Given the description of an element on the screen output the (x, y) to click on. 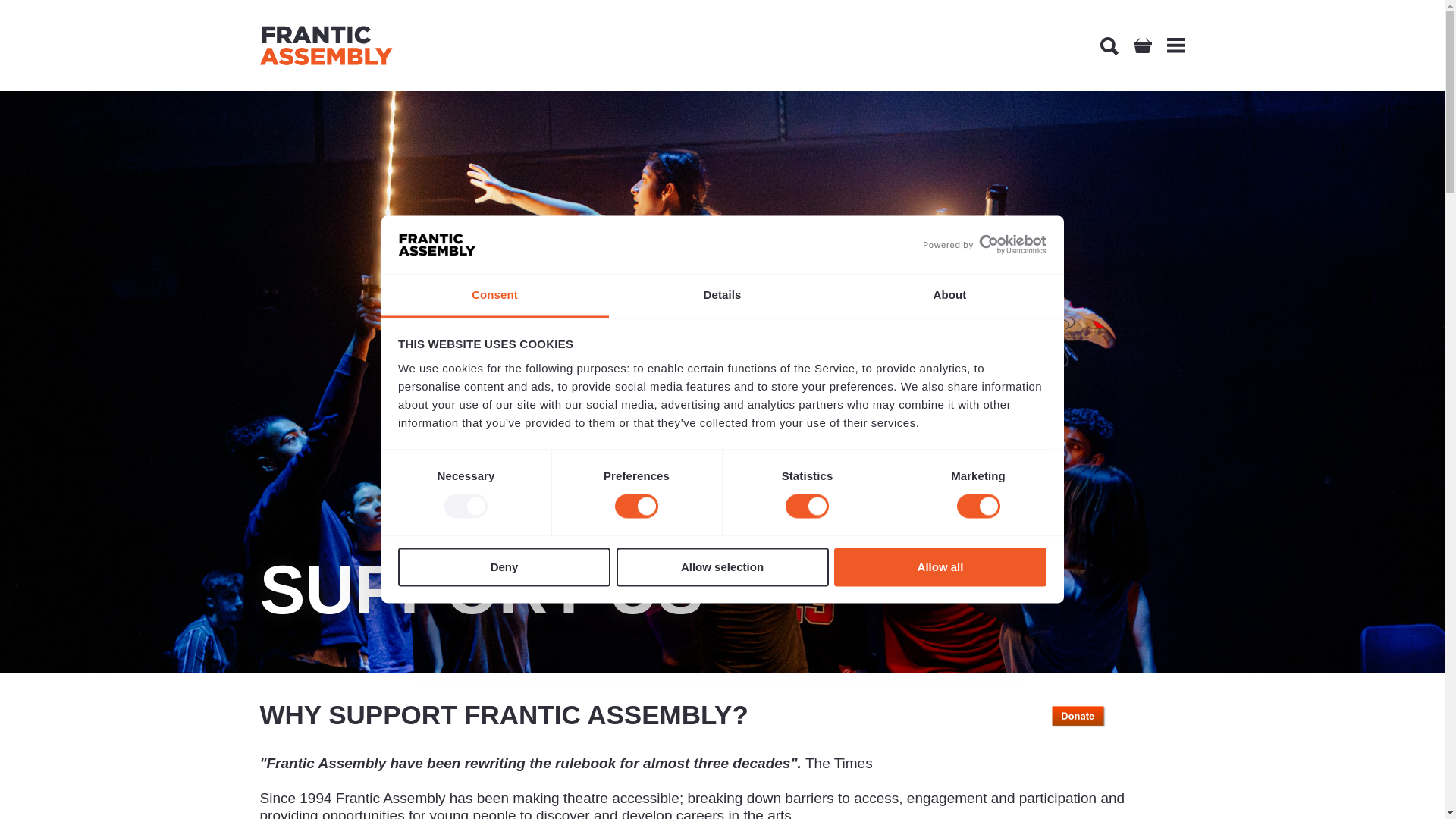
About (948, 295)
Consent (494, 295)
Details (721, 295)
